Given the description of an element on the screen output the (x, y) to click on. 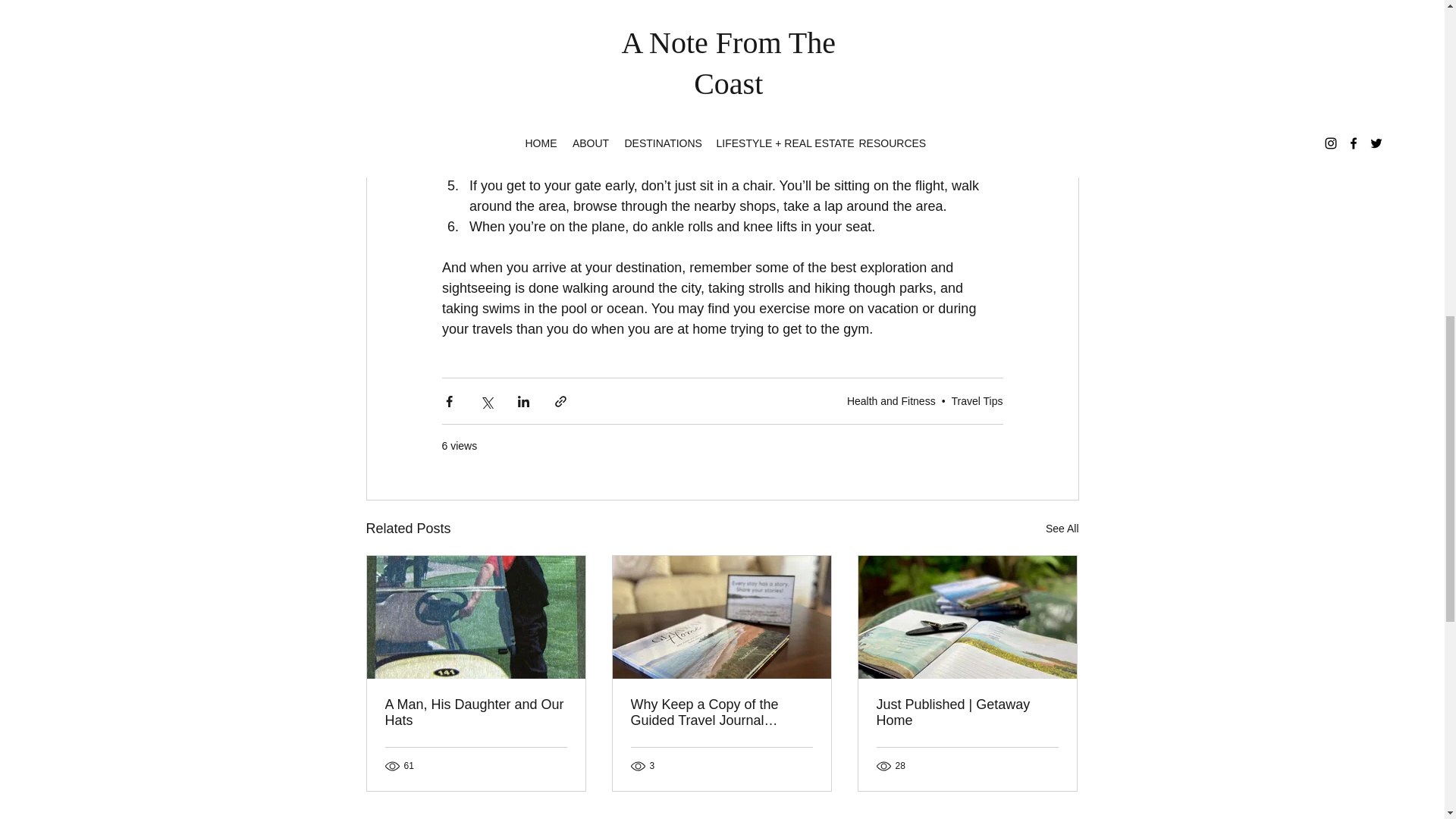
A Man, His Daughter and Our Hats (476, 712)
Travel Tips (977, 400)
See All (1061, 528)
Jonathan Rupp (649, 4)
Health and Fitness (891, 400)
